Given the description of an element on the screen output the (x, y) to click on. 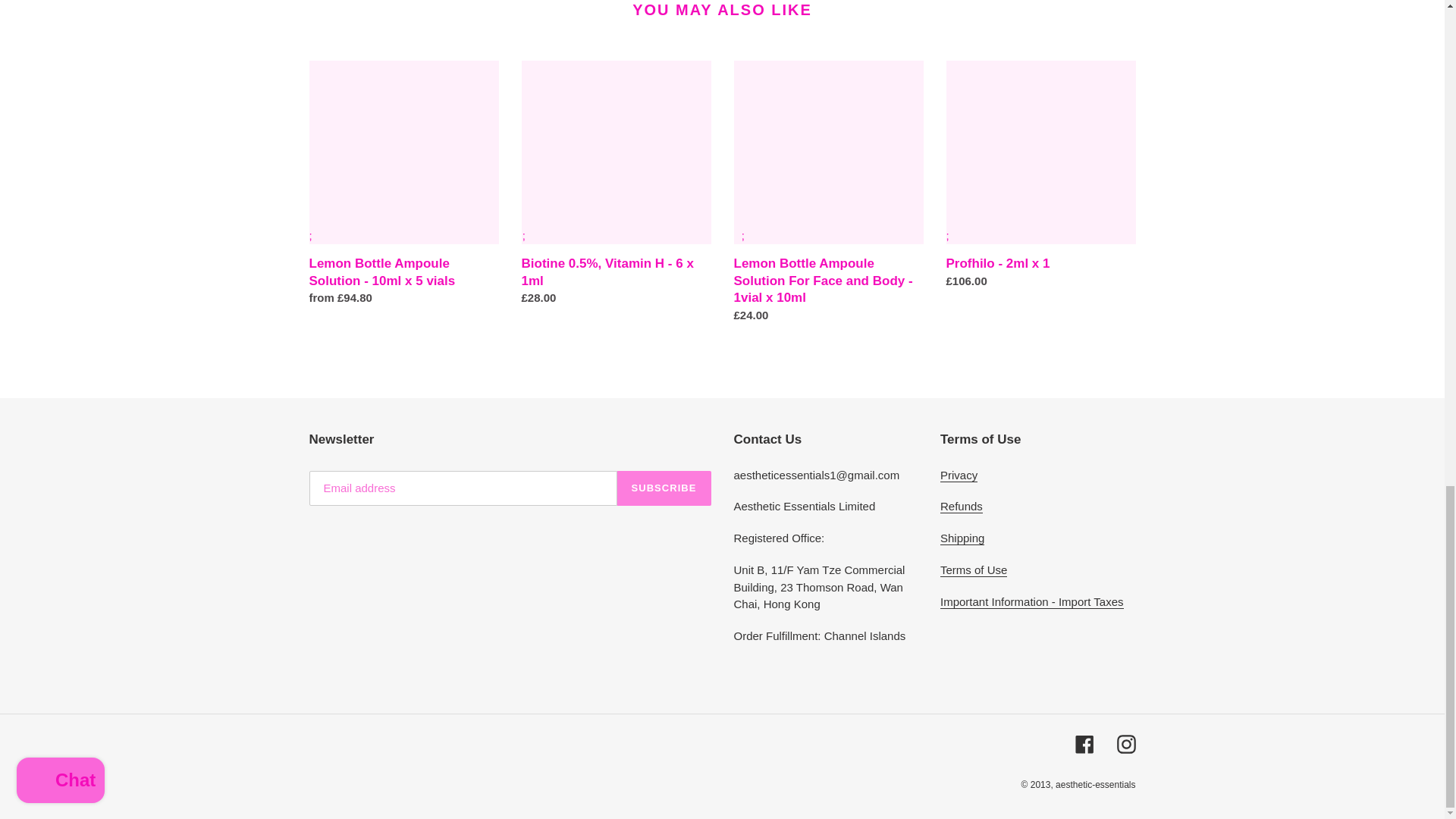
Shipping Policy (962, 538)
Privacy Policy (958, 475)
Important Information - Import Taxes (1032, 602)
Terms of Service (973, 570)
Refund Policy (961, 506)
